Given the description of an element on the screen output the (x, y) to click on. 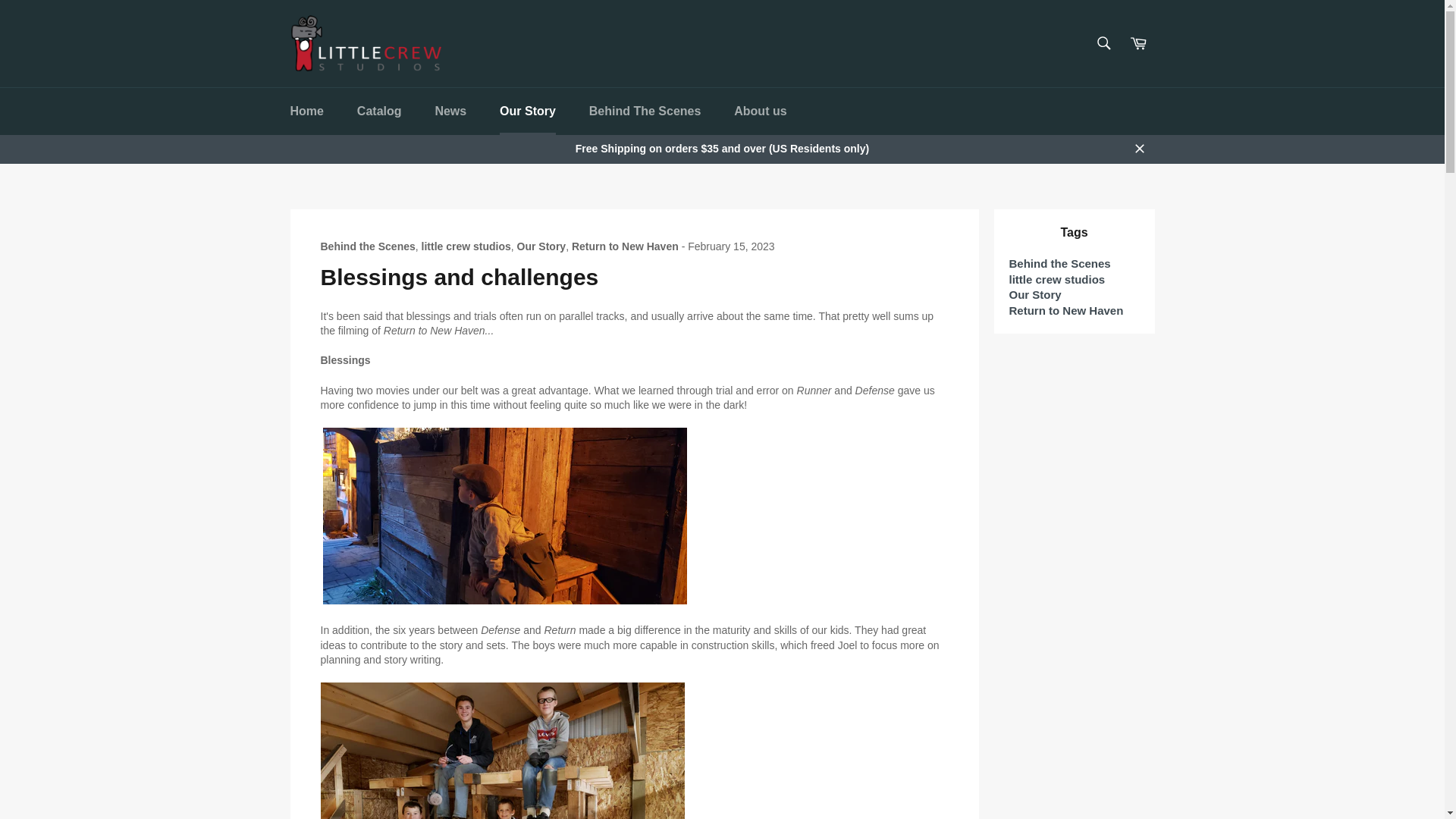
Close (1139, 148)
Search (1103, 42)
Behind the Scenes (1059, 263)
Our Story (527, 111)
Our Story (541, 246)
Behind the Scenes (367, 246)
Return to New Haven (1065, 309)
little crew studios (466, 246)
little crew studios (1057, 278)
News (450, 111)
Home (306, 111)
Behind The Scenes (644, 111)
Show articles tagged Behind the Scenes (1059, 263)
Show articles tagged Our Story (1035, 294)
Our Story (1035, 294)
